Given the description of an element on the screen output the (x, y) to click on. 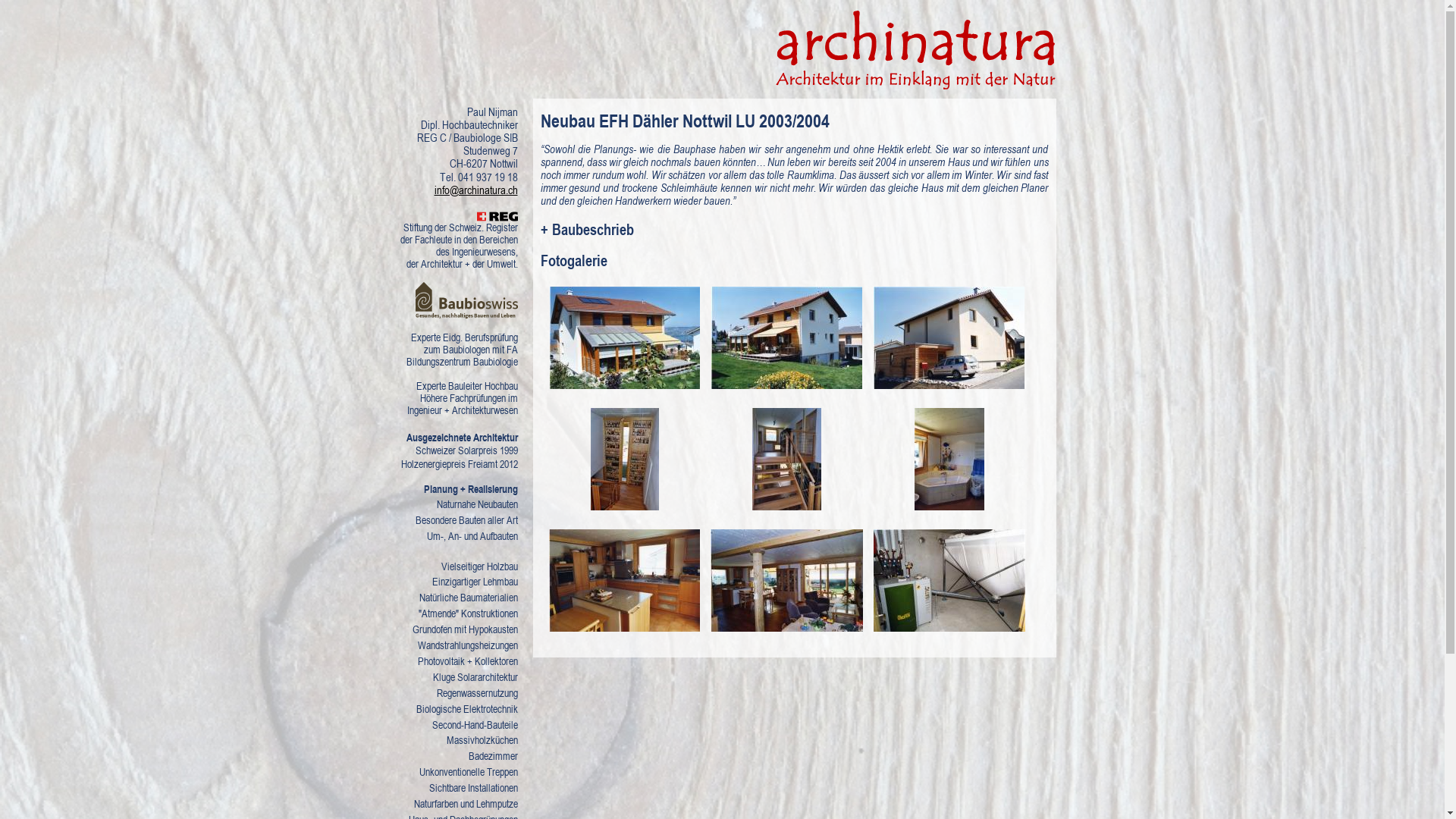
Badezimmer Element type: text (448, 756)
Sichtbare Installationen Element type: text (448, 788)
Kluge Solararchitektur Element type: text (448, 677)
"Atmende" Konstruktionen Element type: text (448, 613)
Regenwassernutzung Element type: text (448, 693)
Vielseitiger Holzbau Element type: text (448, 566)
Biologische Elektrotechnik Element type: text (448, 709)
Grundofen mit Hypokausten Element type: text (448, 629)
Naturnahe Neubauten Element type: text (448, 504)
Bild 6: Auch das Bad ist gestaltet Element type: hover (949, 458)
Einzigartiger Lehmbau Element type: text (448, 581)
... und schafft Weite Element type: hover (786, 504)
Holzenergiepreis Freiamt 2012 Element type: text (448, 463)
info@archinatura.ch Element type: text (475, 189)
Um-, An- und Aufbauten Element type: text (448, 536)
Second-Hand-Bauteile Element type: text (448, 725)
Photovoltaik + Kollektoren Element type: text (448, 661)
Unkonventionelle Treppen Element type: text (448, 772)
Pelletheizkessel und Pelletlager (Flexsilo) Element type: hover (949, 626)
Naturfarben und Lehmputze Element type: text (448, 804)
Besondere Bauten aller Art Element type: text (448, 520)
Auch das Bad ist gestaltet Element type: hover (949, 504)
Bild 9: Pelletheizkessel und Pelletlager (Flexsilo) Element type: hover (949, 580)
Wandstrahlungsheizungen Element type: text (448, 645)
Bild 5: ... und schafft Weite Element type: hover (786, 458)
Schweizer Solarpreis 1999 Element type: text (448, 450)
